Given the description of an element on the screen output the (x, y) to click on. 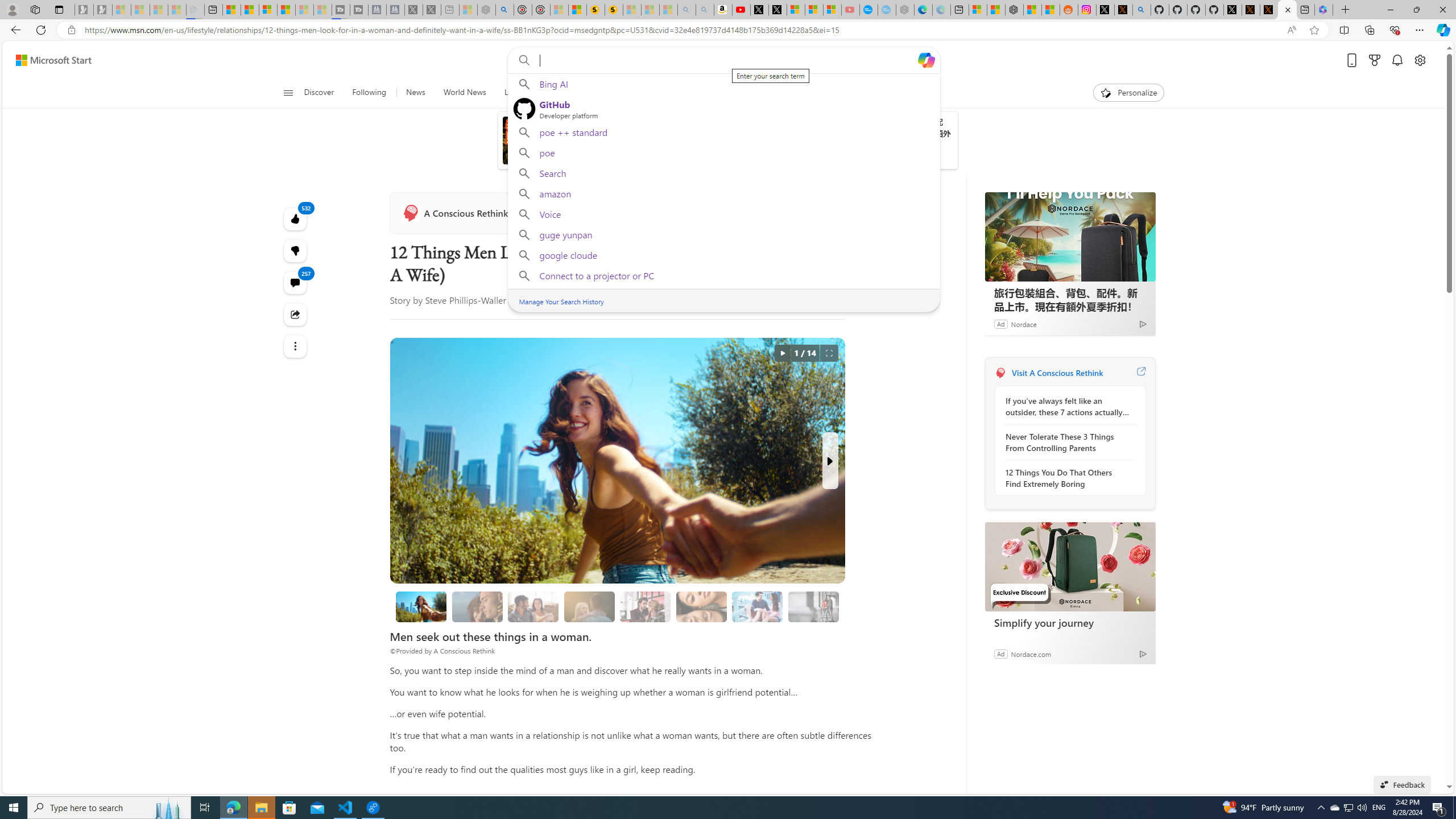
Newsletter Sign Up - Sleeping (102, 9)
Politics (694, 92)
Science (553, 92)
X Privacy Policy (1268, 9)
4. She is supportive. (645, 606)
Next Slide (829, 460)
2. She is accepting. (533, 606)
A Conscious Rethink (1000, 372)
Share this story (295, 314)
Nordace - Duffels (1013, 9)
Gloom - YouTube - Sleeping (850, 9)
